Given the description of an element on the screen output the (x, y) to click on. 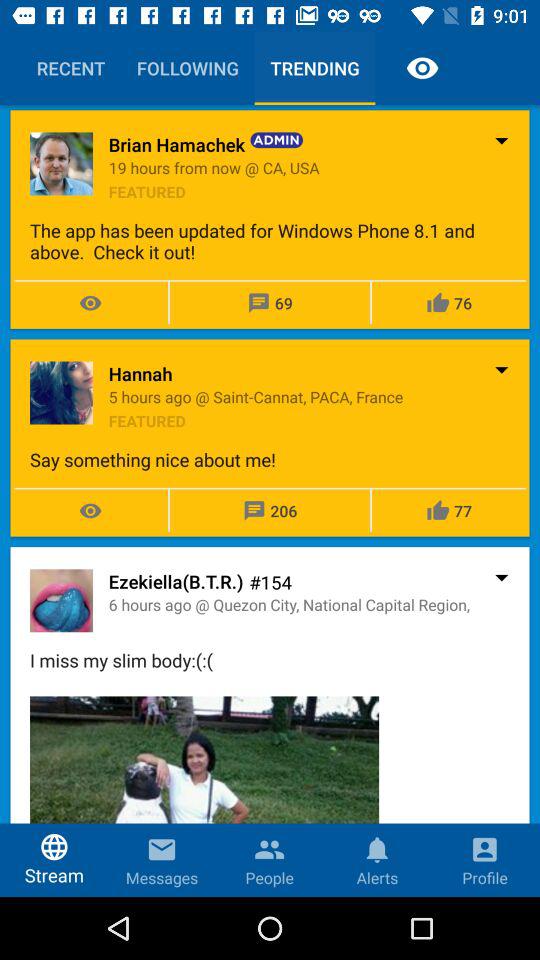
choose icon below the featured item (269, 241)
